Given the description of an element on the screen output the (x, y) to click on. 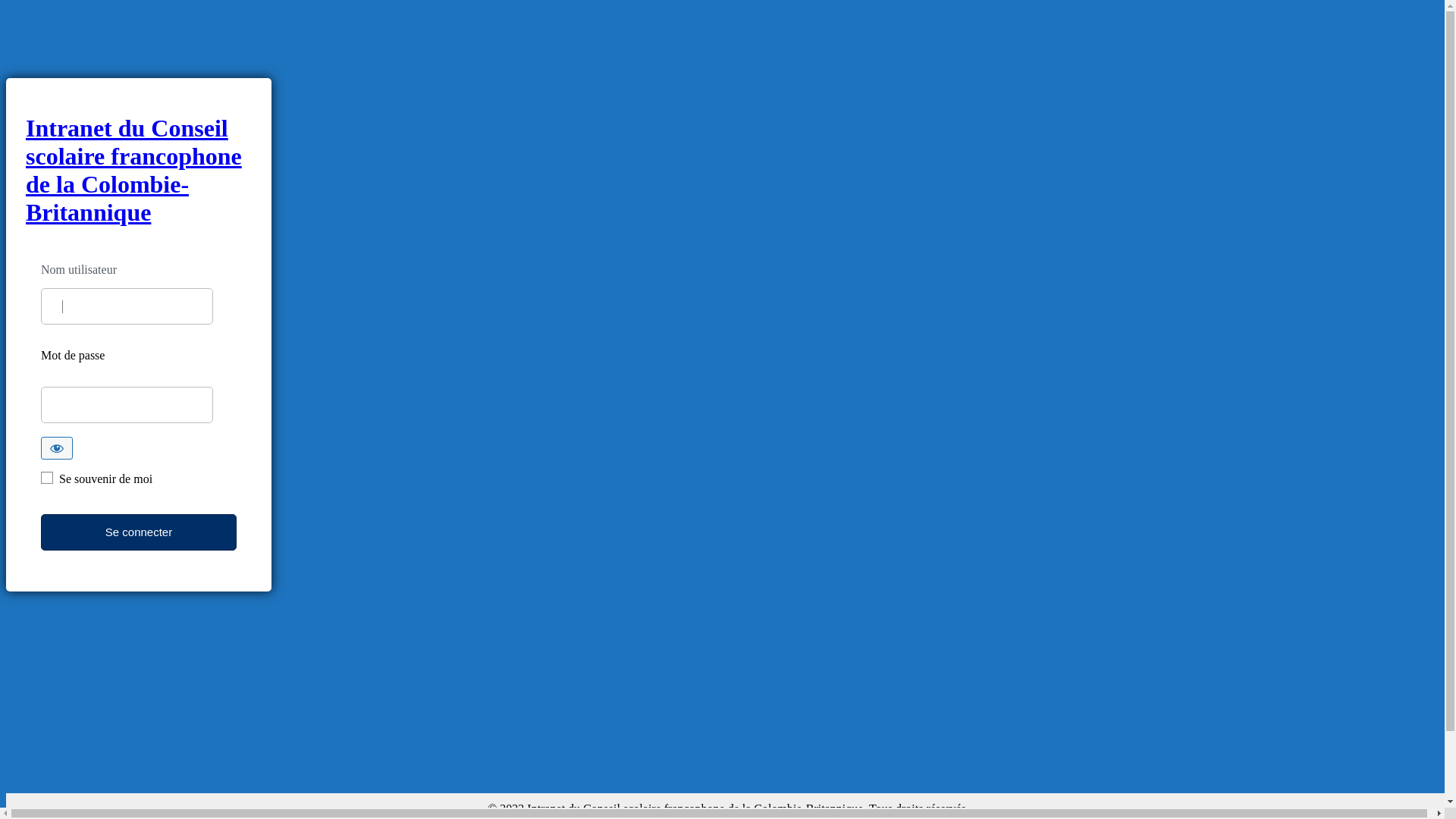
Se connecter Element type: text (138, 532)
